Given the description of an element on the screen output the (x, y) to click on. 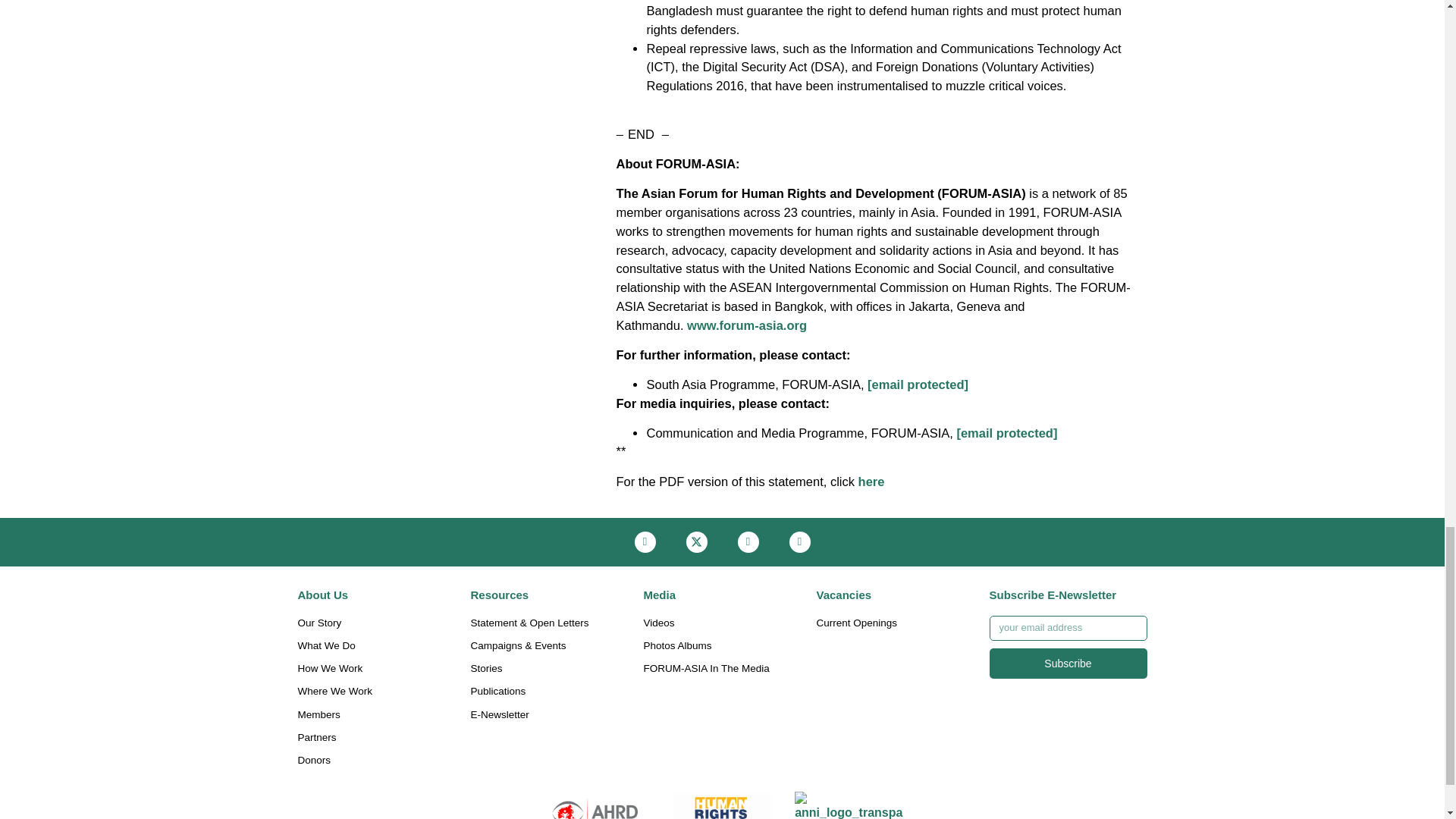
Default Title (722, 805)
Default Title (595, 805)
Default Title (848, 805)
